Given the description of an element on the screen output the (x, y) to click on. 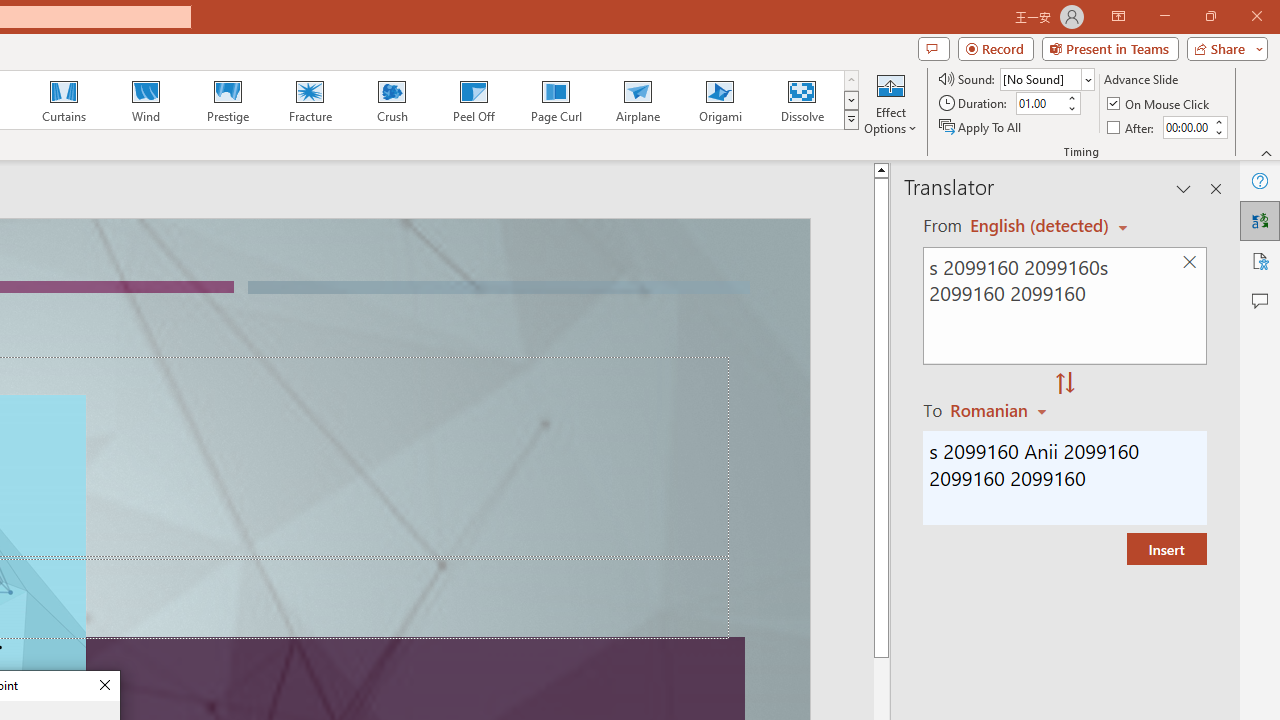
Effect Options (890, 102)
Airplane (637, 100)
